Given the description of an element on the screen output the (x, y) to click on. 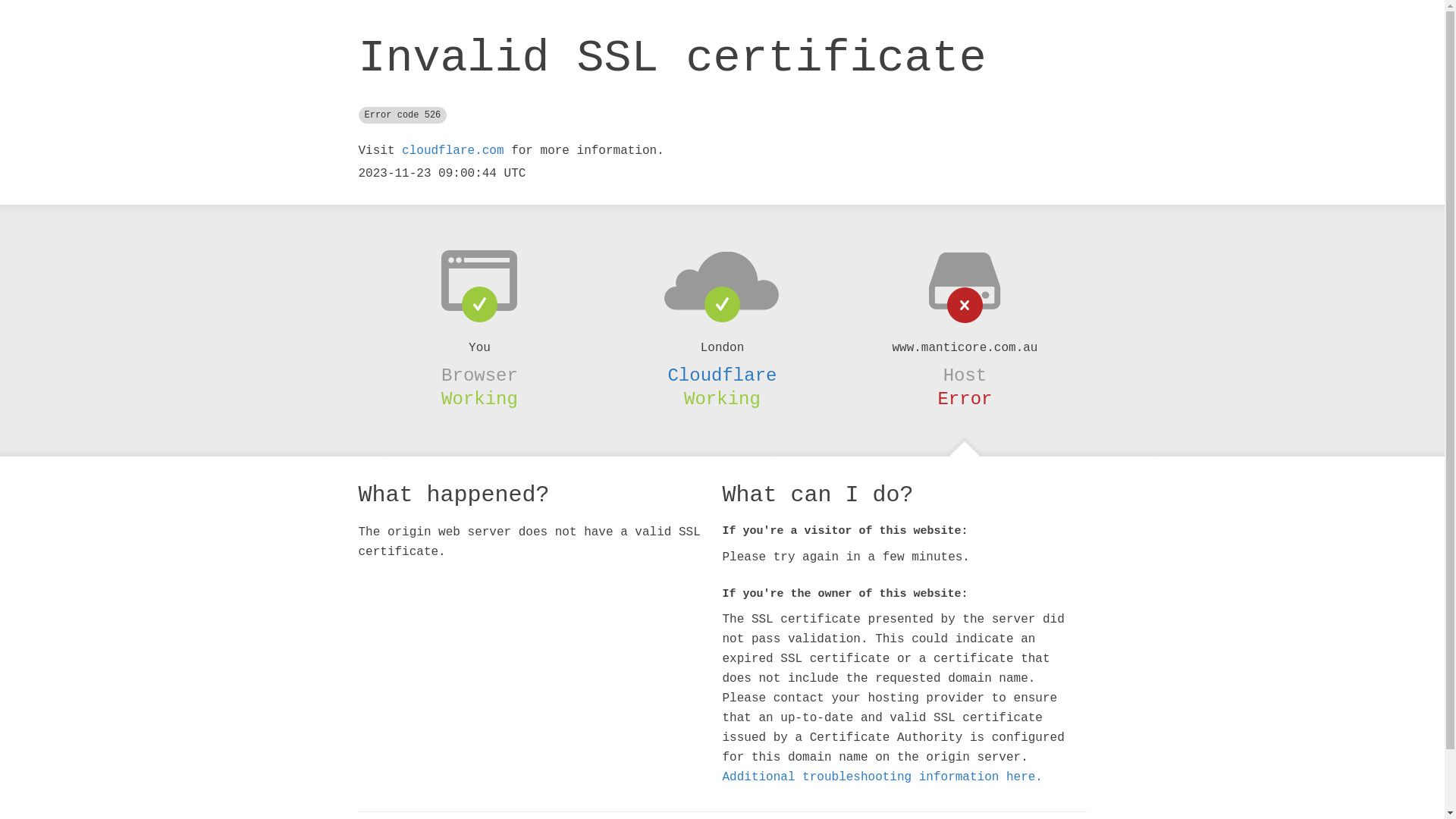
Additional troubleshooting information here. Element type: text (881, 777)
Cloudflare Element type: text (721, 375)
cloudflare.com Element type: text (452, 150)
